Given the description of an element on the screen output the (x, y) to click on. 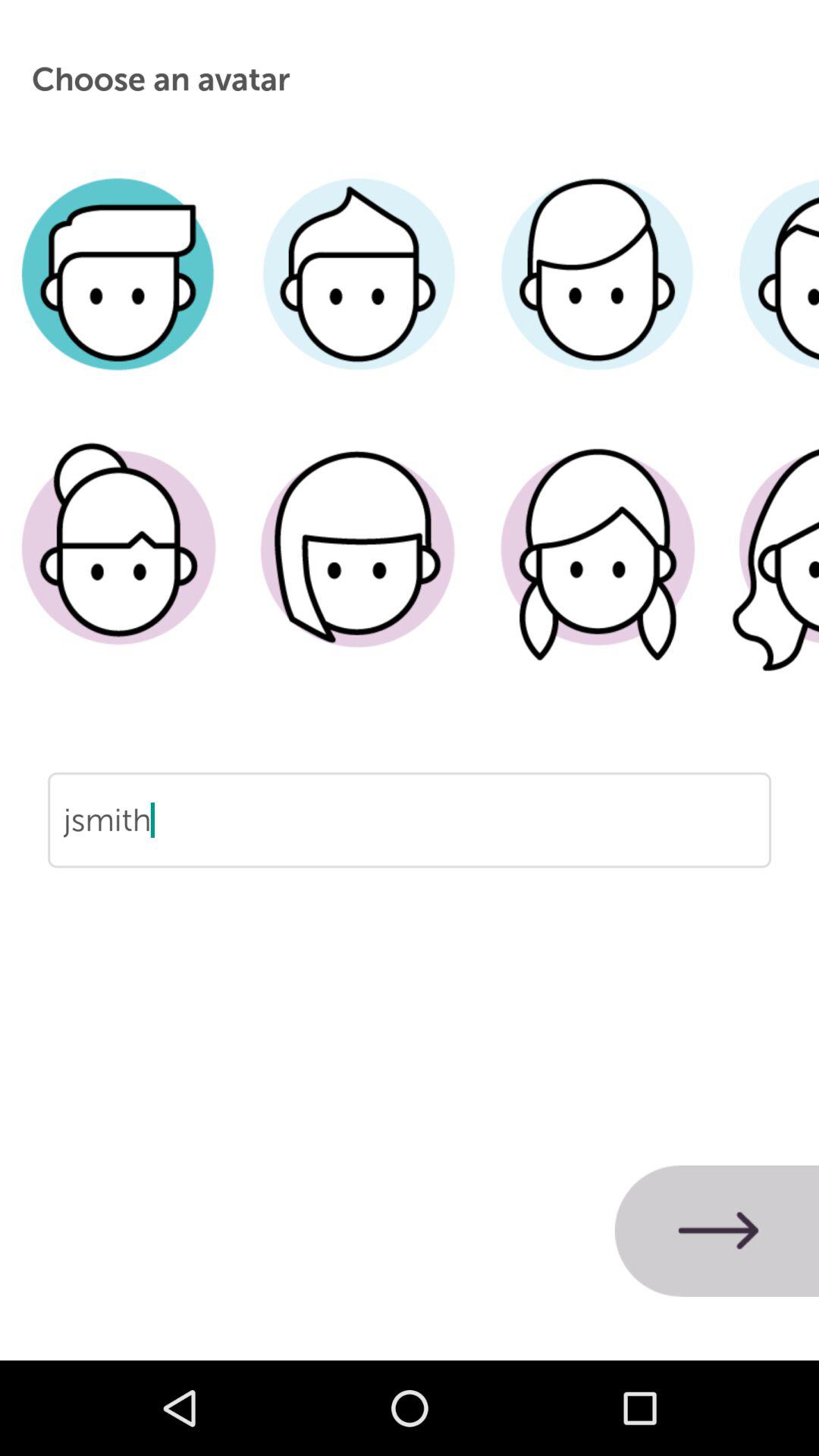
scroll to jsmith icon (409, 867)
